Given the description of an element on the screen output the (x, y) to click on. 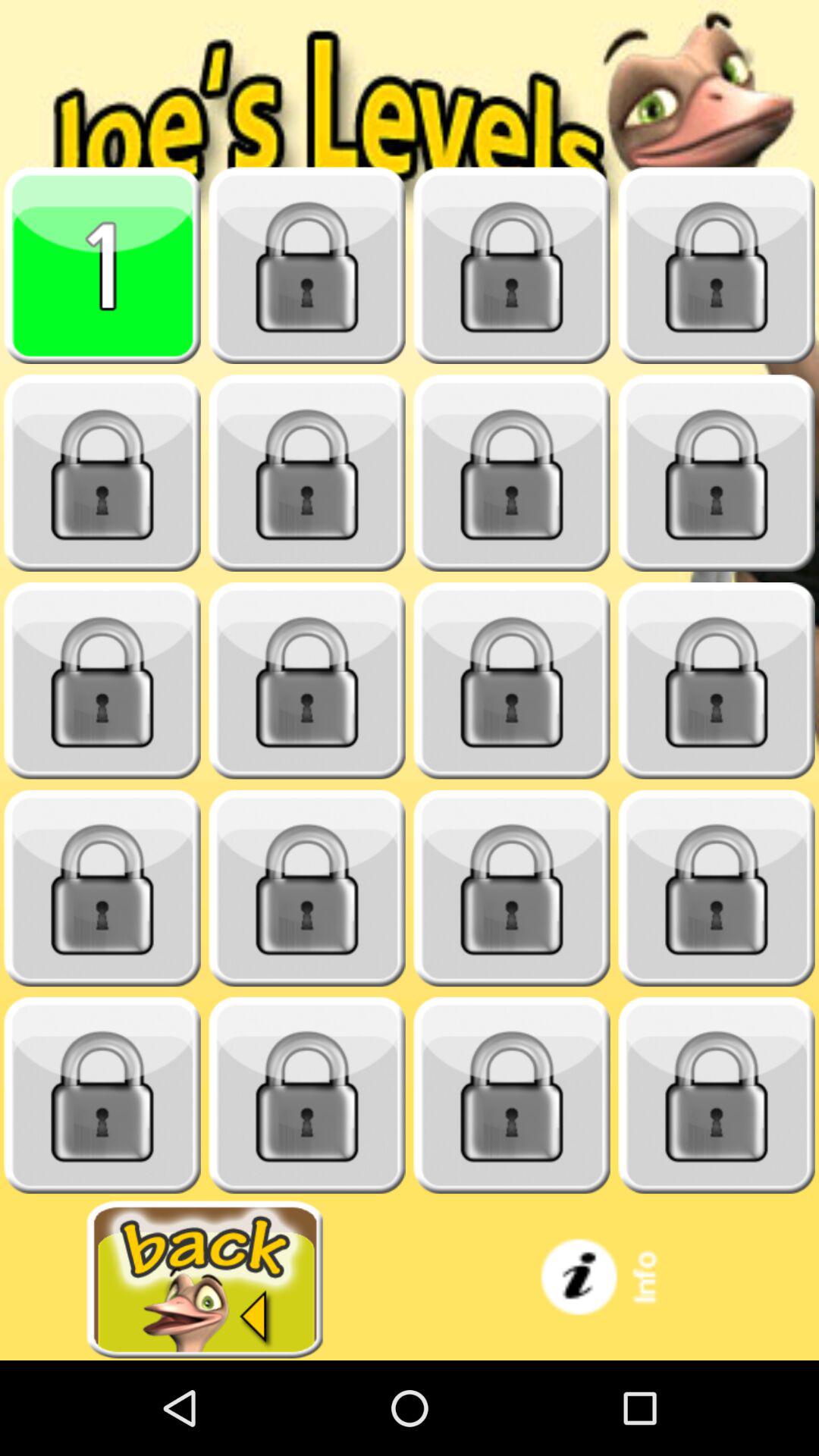
get info (614, 1279)
